Given the description of an element on the screen output the (x, y) to click on. 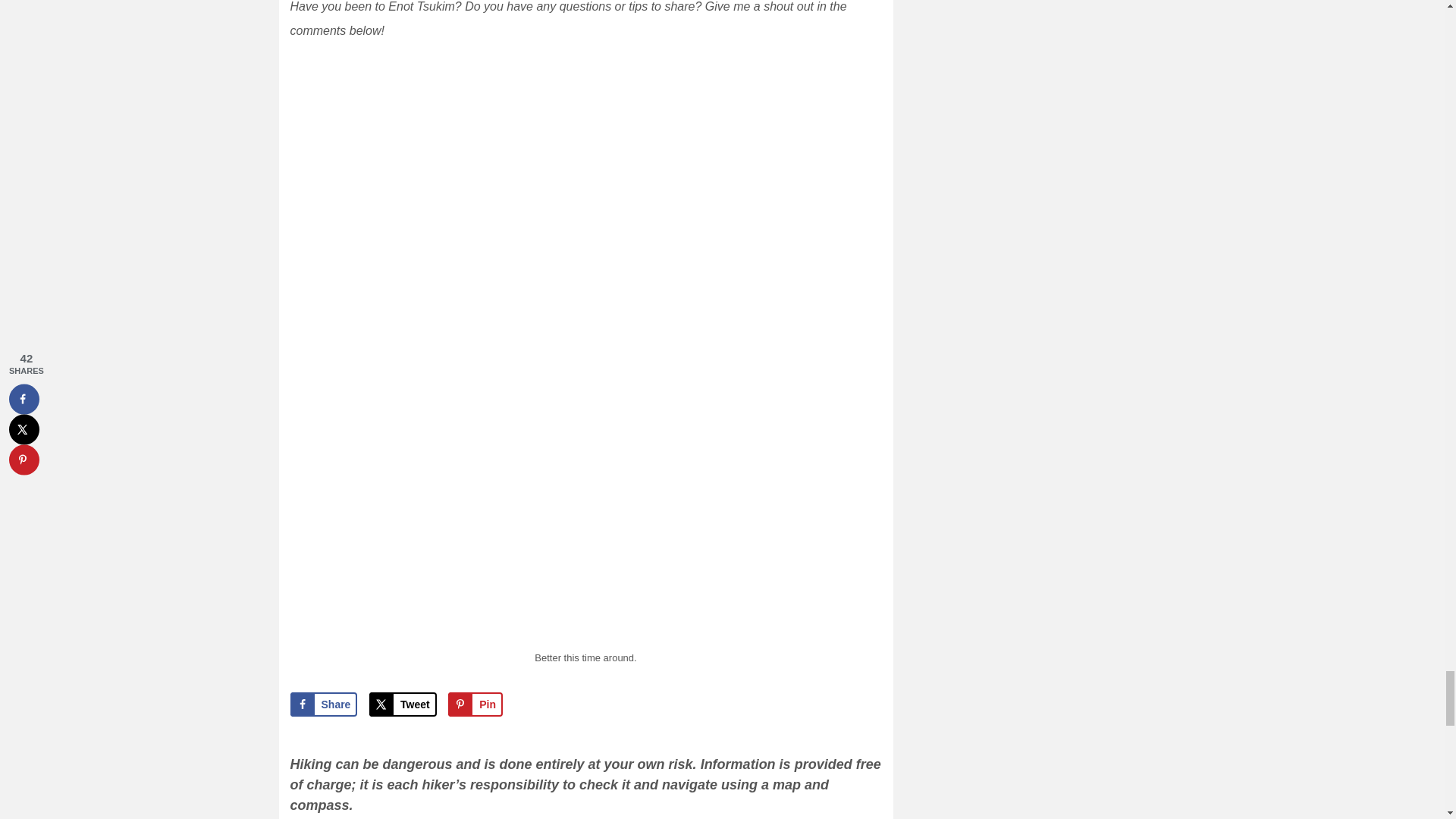
Share on X (402, 704)
Share (322, 704)
Save to Pinterest (475, 704)
Pin (475, 704)
Share on Facebook (322, 704)
Tweet (402, 704)
